Given the description of an element on the screen output the (x, y) to click on. 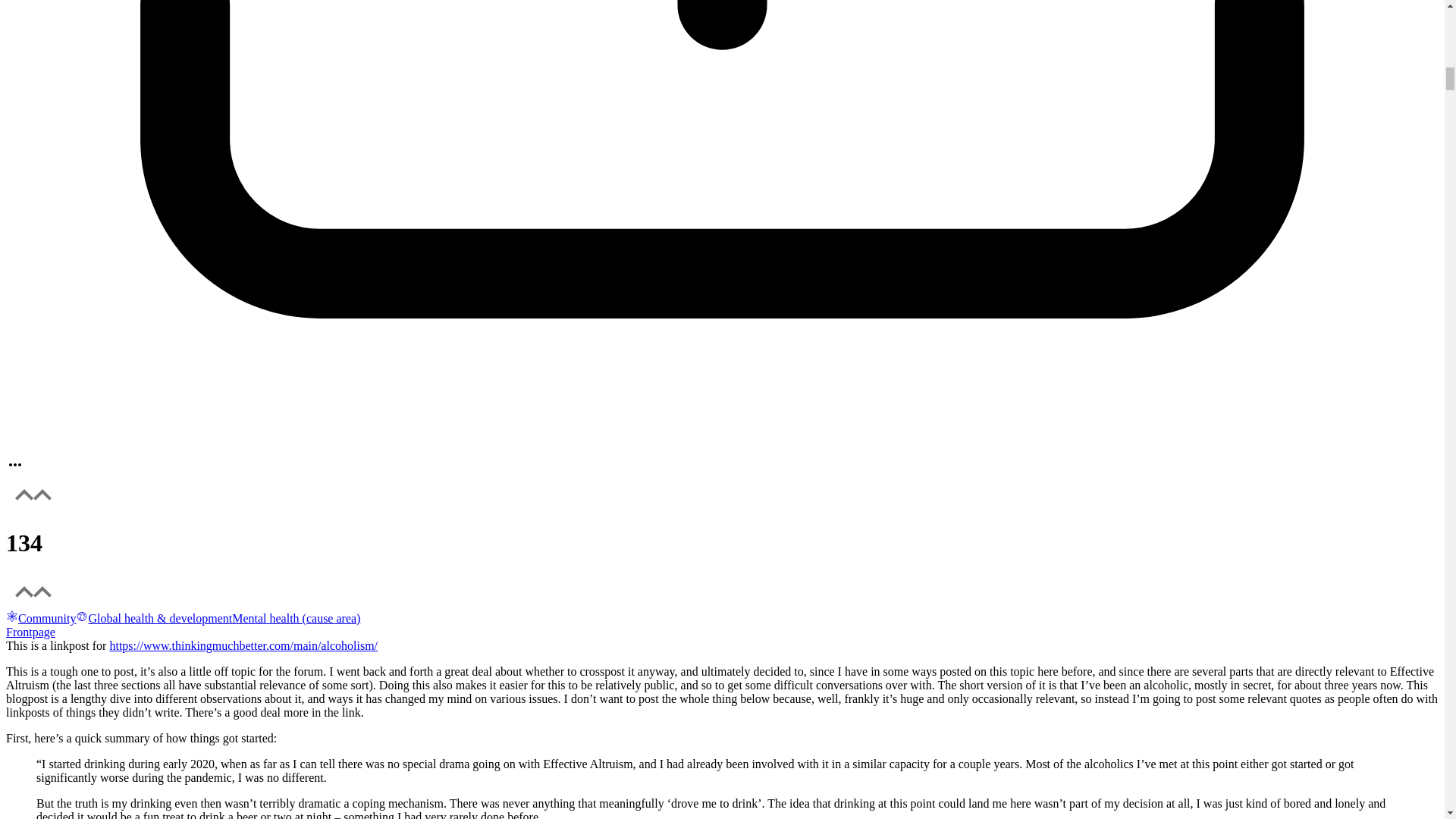
Community (40, 617)
